Given the description of an element on the screen output the (x, y) to click on. 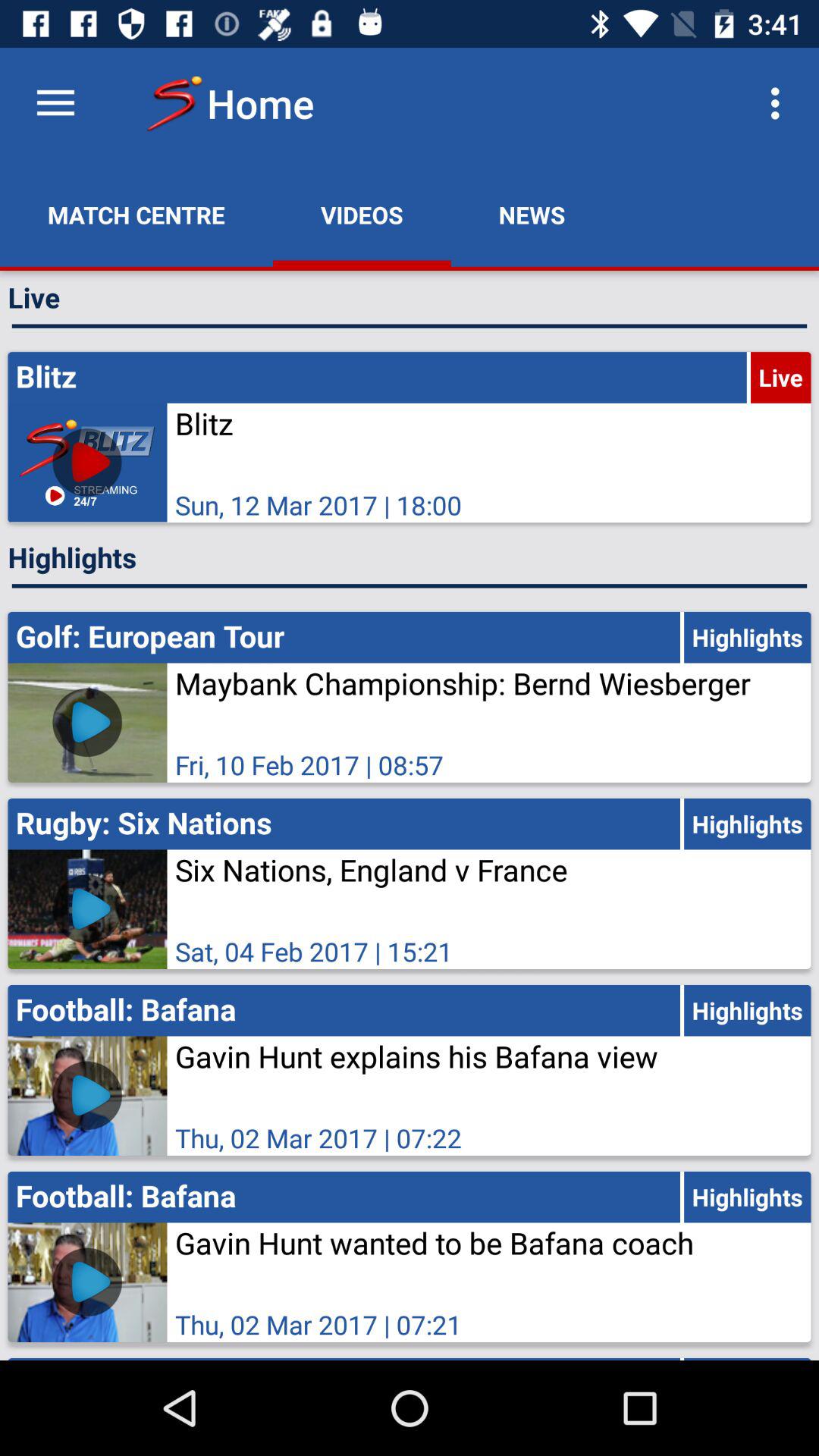
turn on the icon above the match centre app (55, 103)
